Given the description of an element on the screen output the (x, y) to click on. 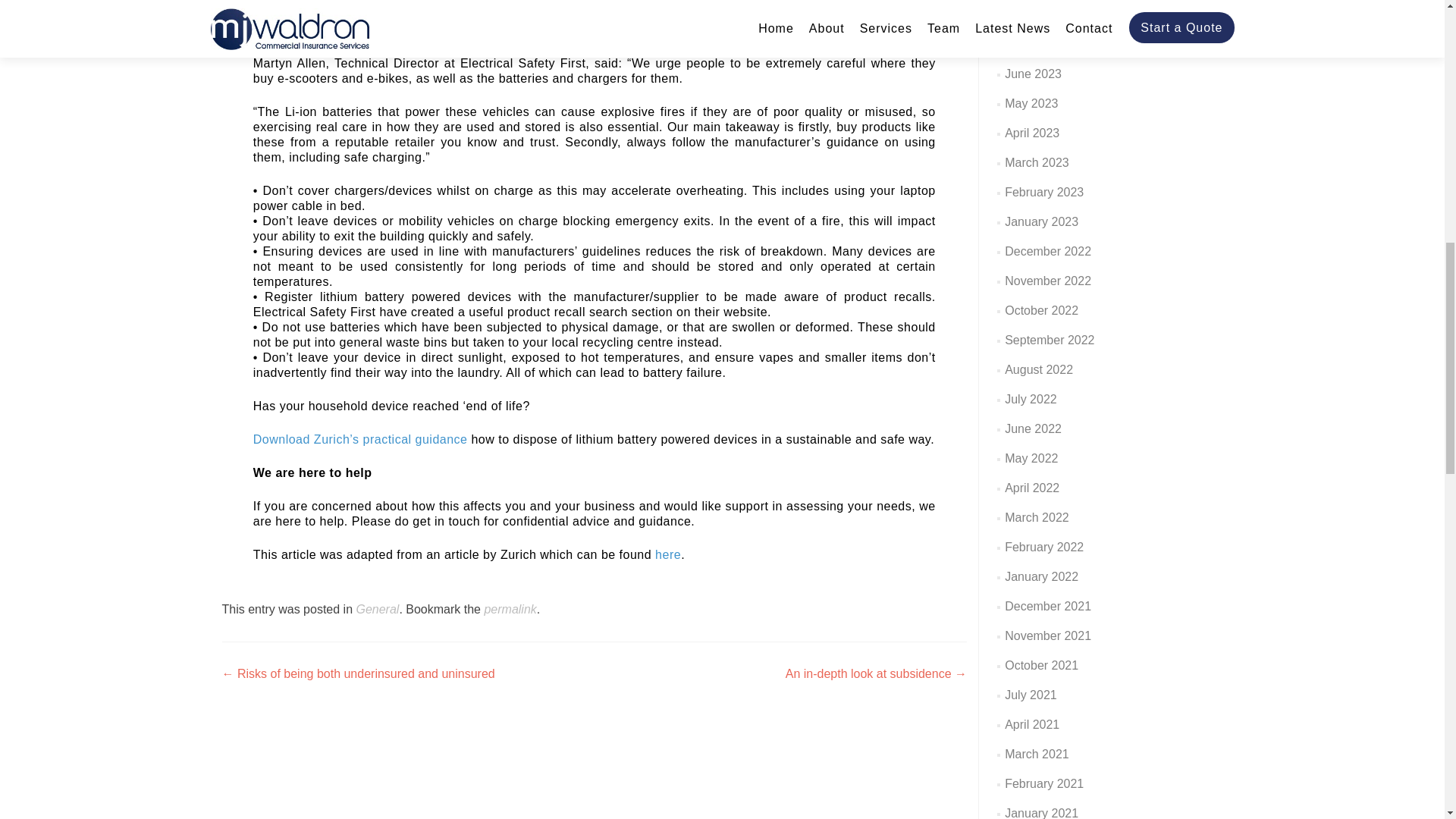
May 2023 (1031, 103)
here (668, 554)
General (376, 608)
April 2023 (1031, 132)
August 2023 (1038, 14)
permalink (509, 608)
July 2023 (1030, 43)
February 2023 (1043, 192)
June 2023 (1032, 73)
March 2023 (1036, 162)
